Given the description of an element on the screen output the (x, y) to click on. 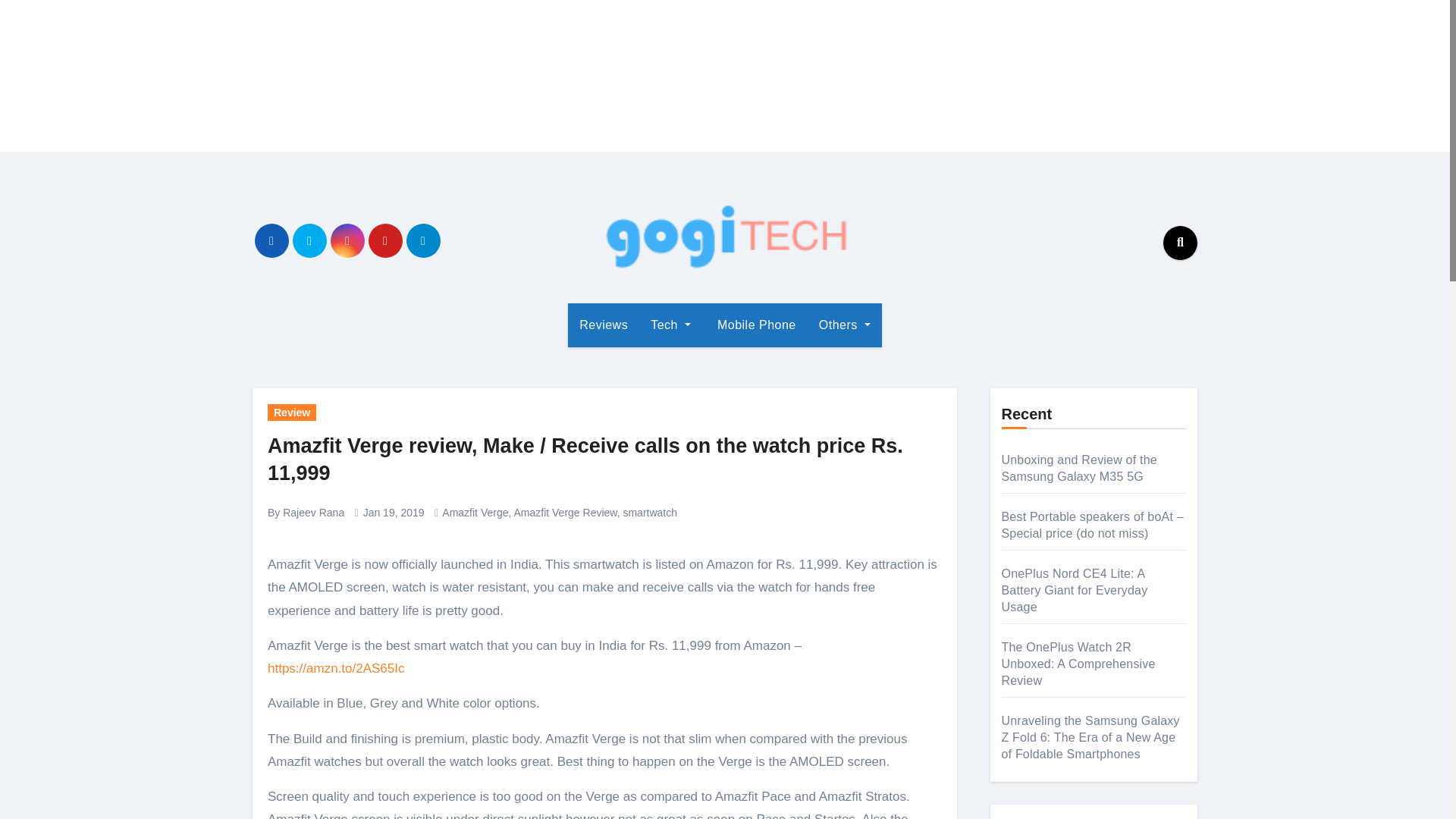
Mobile Phone Section (754, 325)
Reviews (603, 325)
Reviews (603, 325)
Others (845, 325)
By Rajeev Rana (305, 512)
Tech (670, 325)
Others (845, 325)
Tech (670, 325)
 Mobile Phone (754, 325)
Review (291, 412)
